Given the description of an element on the screen output the (x, y) to click on. 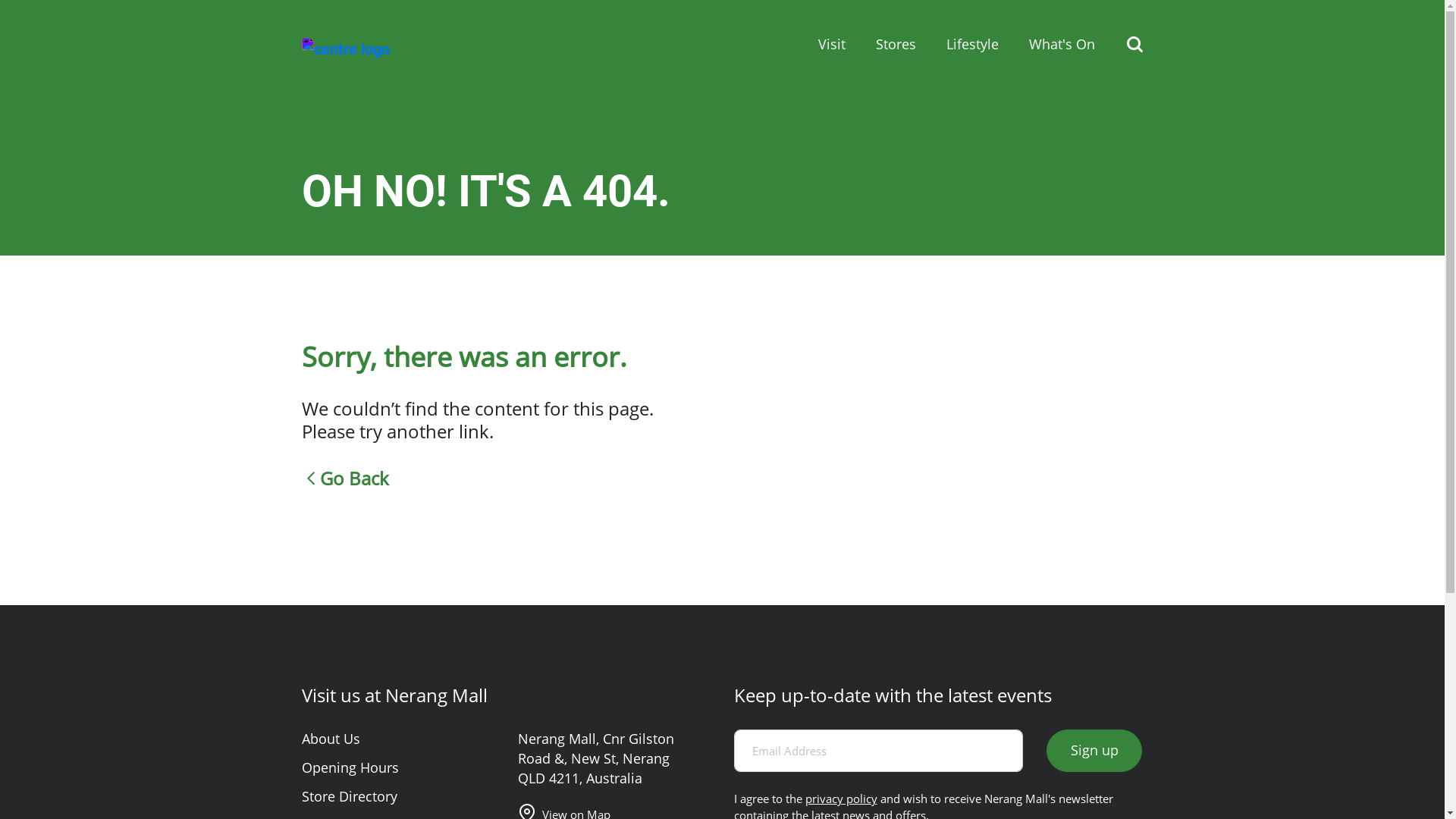
Stores Element type: text (895, 44)
Opening Hours Element type: text (349, 767)
privacy policy Element type: text (841, 798)
Visit Element type: text (830, 44)
Go Back Element type: text (578, 478)
Store Directory Element type: text (349, 796)
What's On Element type: text (1061, 44)
About Us Element type: text (330, 738)
Lifestyle Element type: text (972, 44)
Sign up Element type: text (1094, 750)
